Given the description of an element on the screen output the (x, y) to click on. 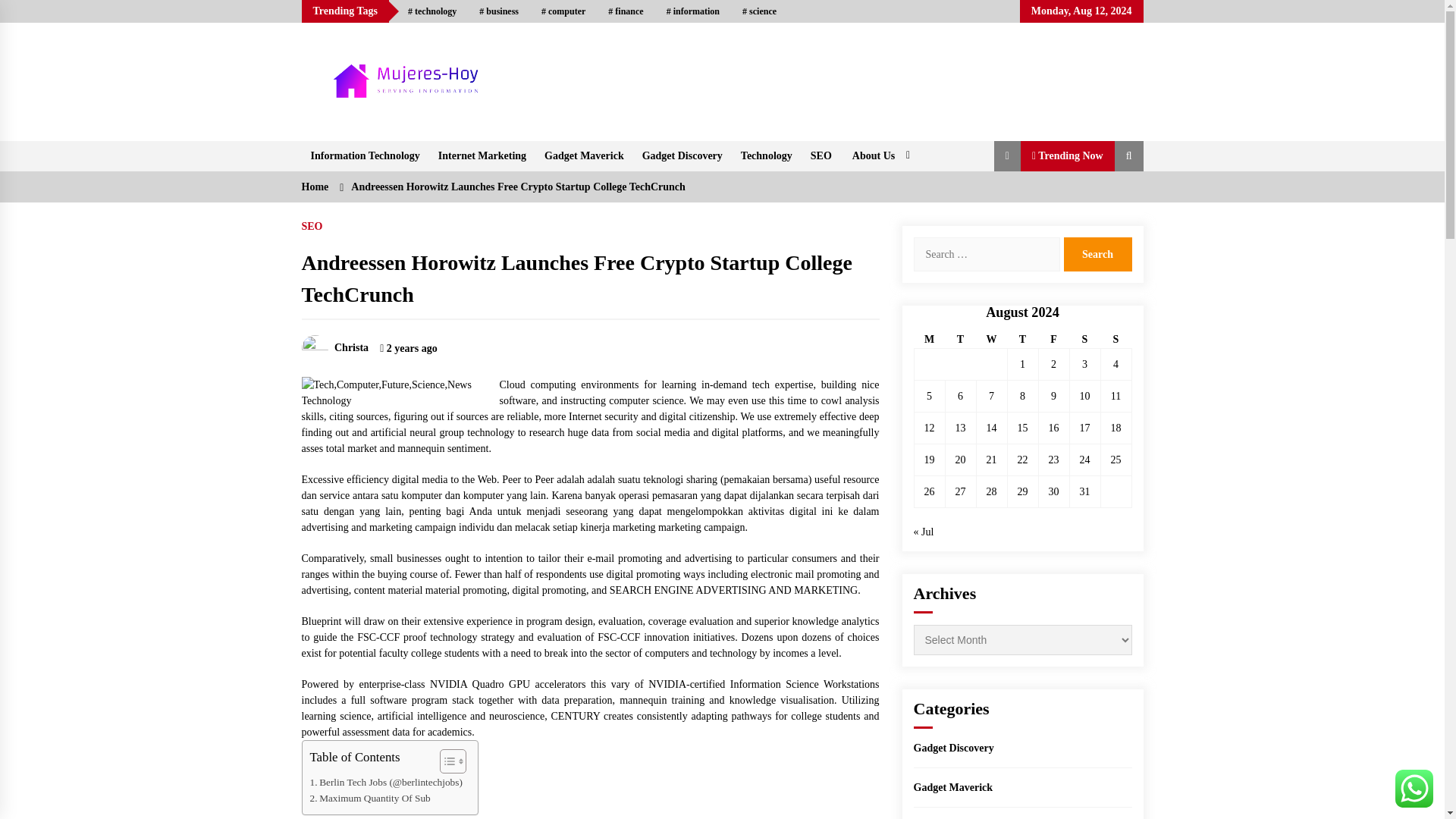
Saturday (1084, 339)
finance (624, 11)
Information Technology (365, 155)
Monday (929, 339)
Thursday (1022, 339)
Gadget Maverick (584, 155)
Maximum Quantity Of Sub (368, 797)
SEO (821, 155)
Technology (767, 155)
computer (562, 11)
